Given the description of an element on the screen output the (x, y) to click on. 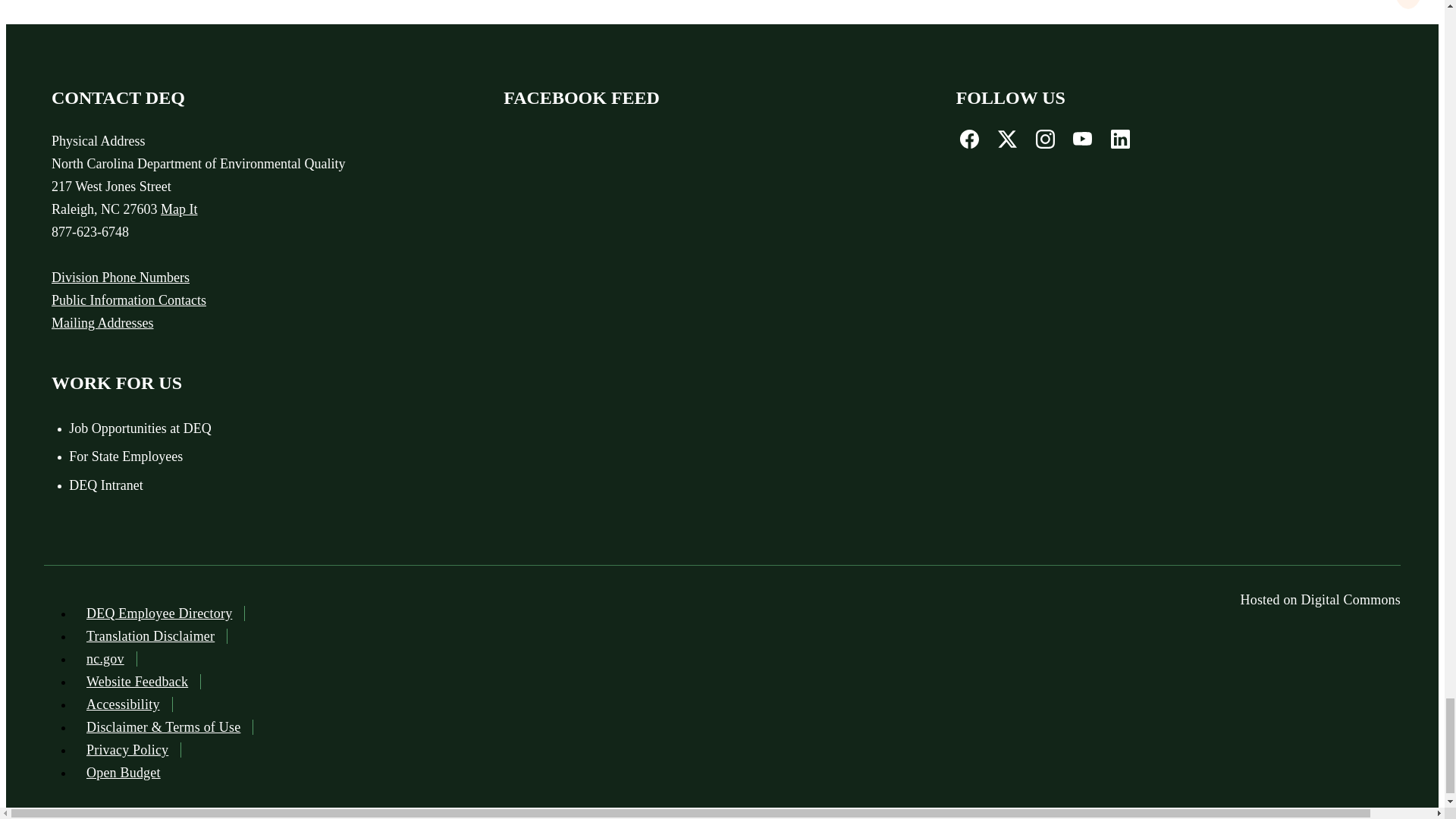
Back to top (1408, 4)
The State of North Carolina (105, 658)
Website User Feedback Form (137, 681)
Job Opportunities at DEQ (244, 428)
For State Employees (244, 457)
State of North Carolina Privacy Policy (127, 749)
State of North Carolina Open Budget (123, 772)
Terms of Use (163, 726)
Accessibility of State of North Carolina Websites (123, 703)
DEQ Intranet (244, 485)
